Given the description of an element on the screen output the (x, y) to click on. 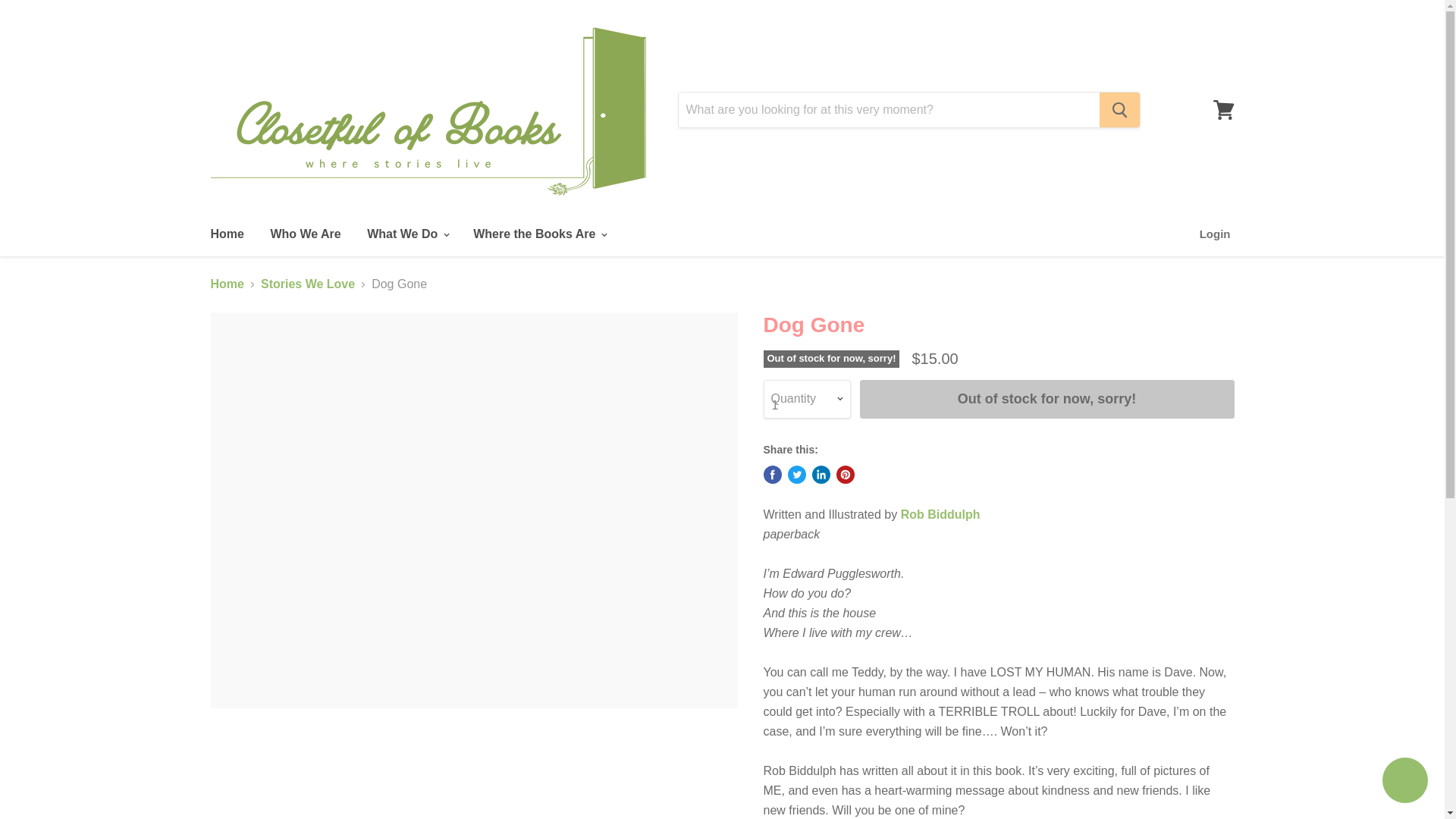
Home (226, 234)
Shopify online store chat (1404, 781)
Where the Books Are (538, 234)
What We Do (406, 234)
Login (1215, 234)
Rob Biddulph (940, 513)
View cart (1223, 109)
Who We Are (305, 234)
